Given the description of an element on the screen output the (x, y) to click on. 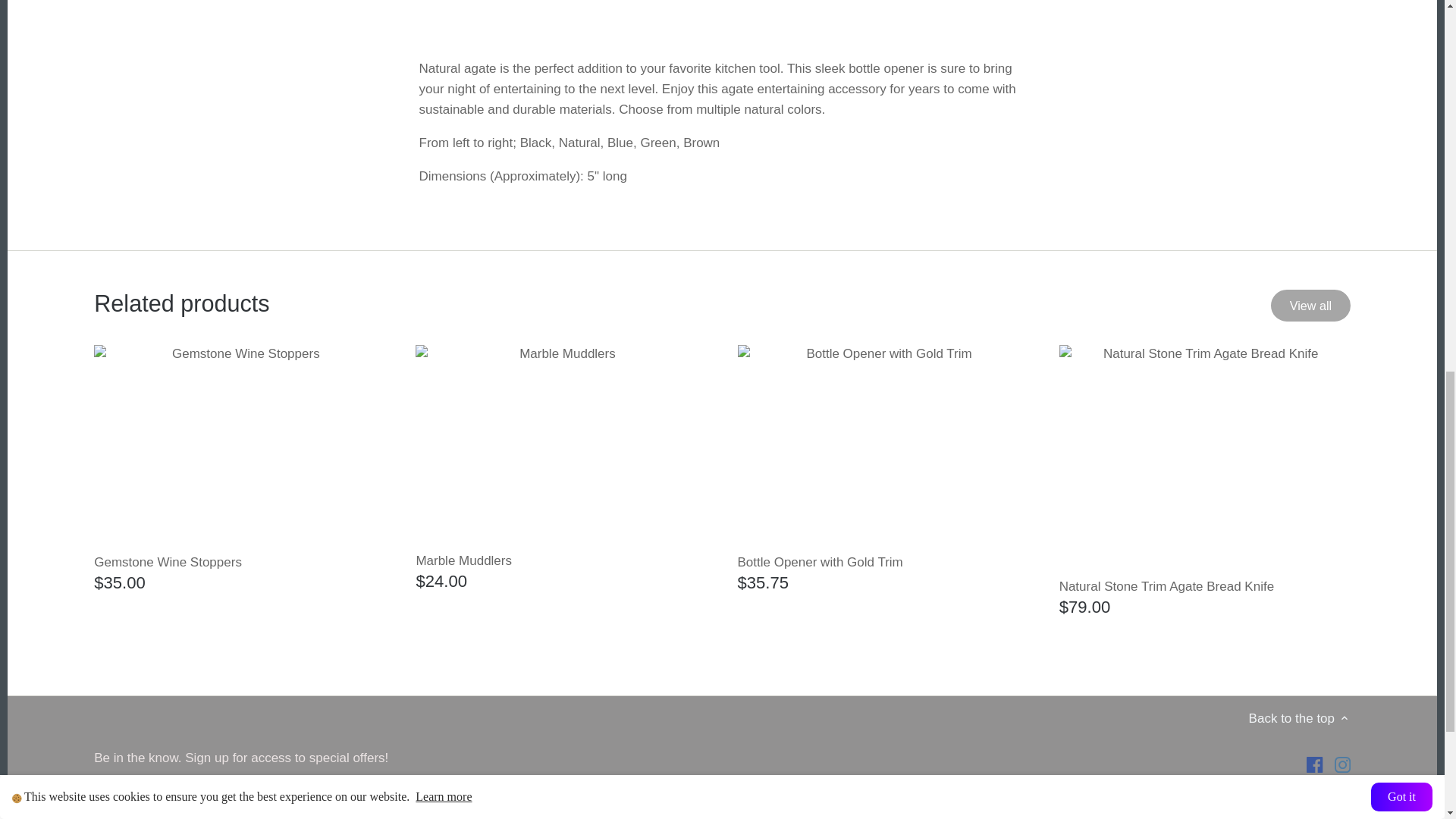
Instagram (1343, 764)
Subscribe (353, 797)
Facebook (1314, 764)
